Given the description of an element on the screen output the (x, y) to click on. 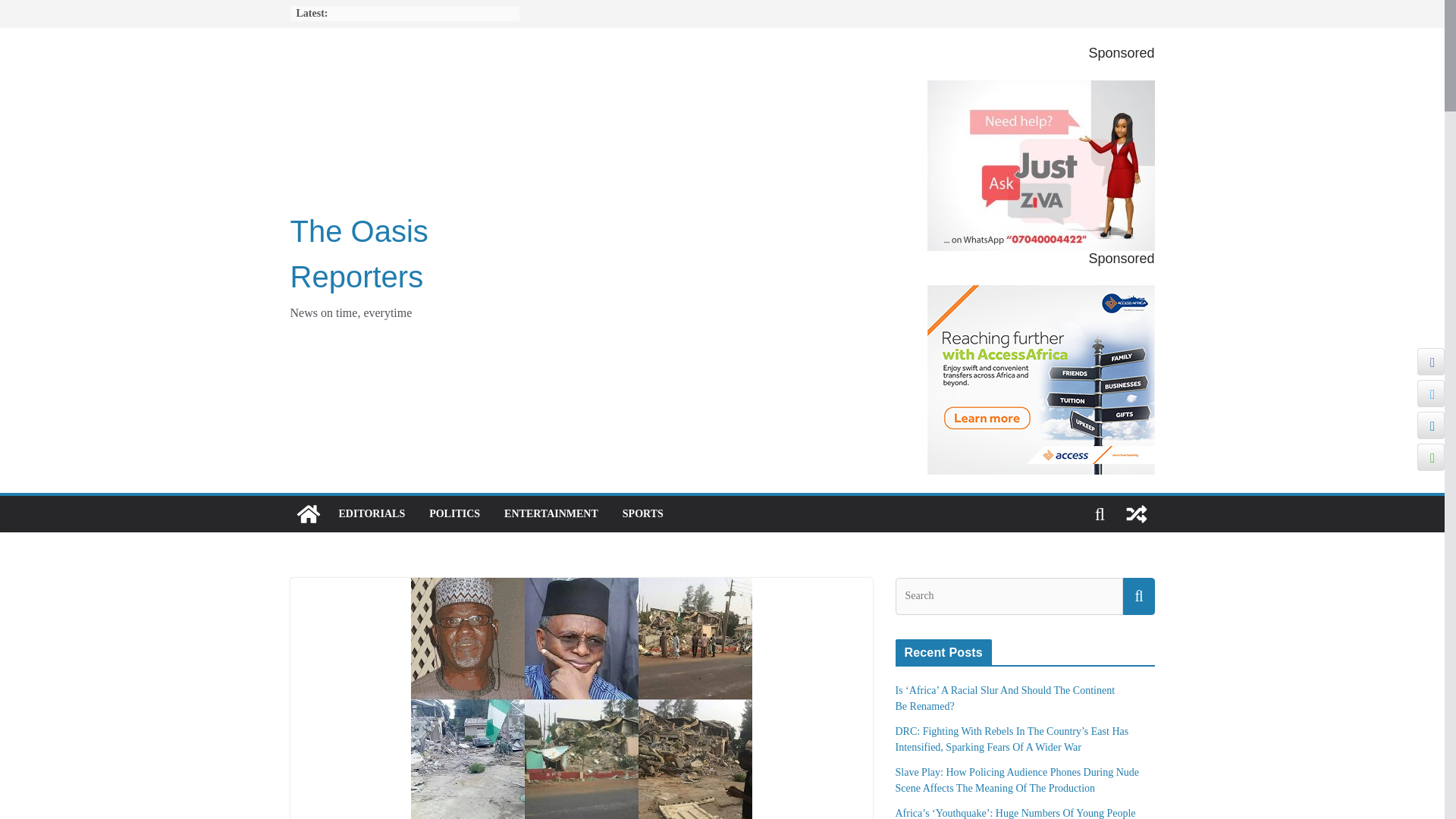
SPORTS (643, 513)
POLITICS (454, 513)
The Oasis Reporters (358, 253)
The Oasis Reporters (307, 514)
ENTERTAINMENT (550, 513)
EDITORIALS (370, 513)
View a random post (1136, 514)
The Oasis Reporters (358, 253)
